Given the description of an element on the screen output the (x, y) to click on. 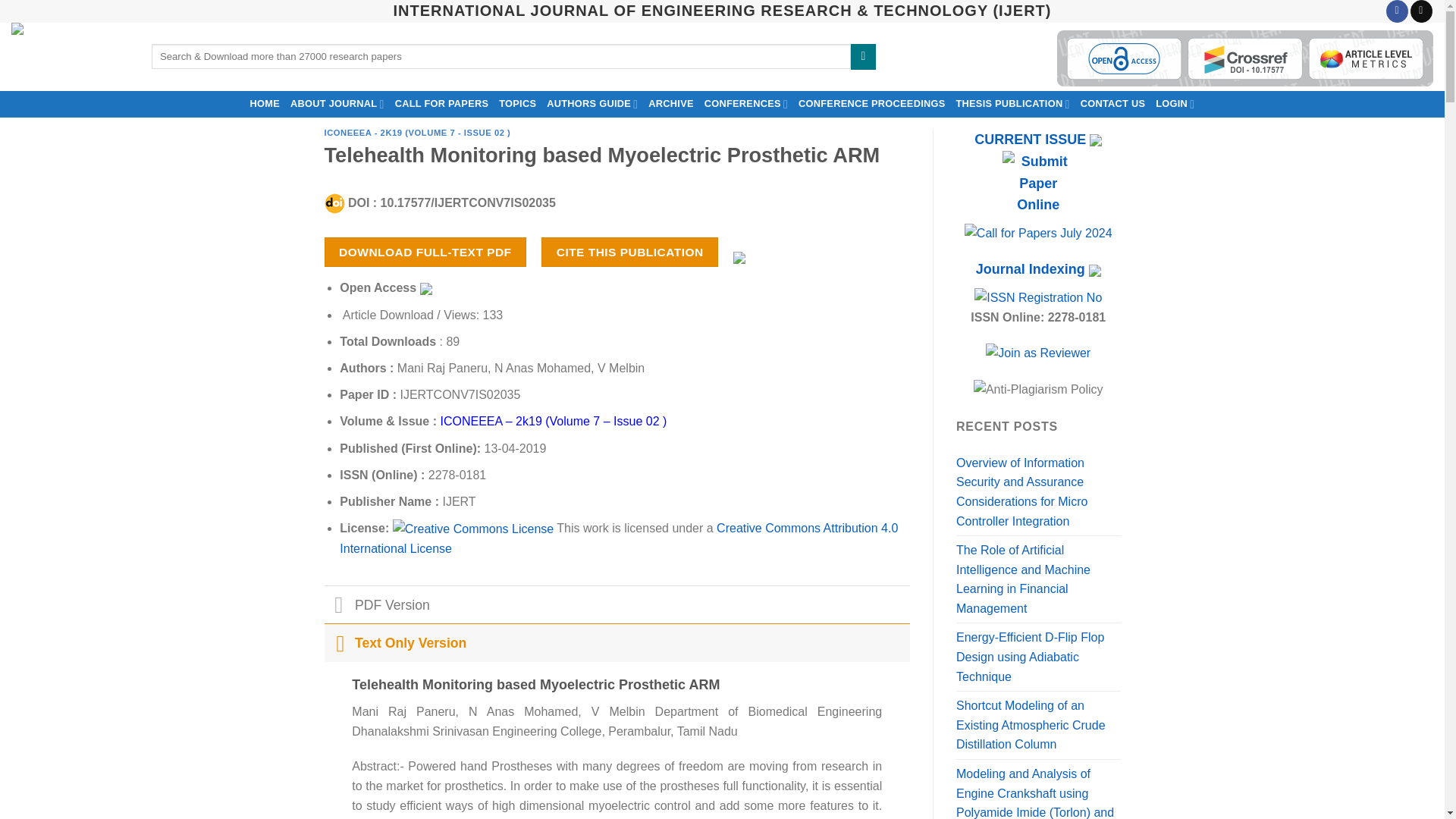
CONFERENCES (745, 103)
ABOUT JOURNAL (337, 103)
CALL FOR PAPERS (442, 103)
Follow on Facebook (1396, 11)
THESIS PUBLICATION (1012, 103)
ARCHIVE (670, 103)
CONTACT US (1113, 103)
CONFERENCE PROCEEDINGS (871, 103)
LOGIN (1174, 103)
Send us an email (1421, 11)
HOME (264, 103)
TOPICS (517, 103)
AUTHORS GUIDE (592, 103)
